Given the description of an element on the screen output the (x, y) to click on. 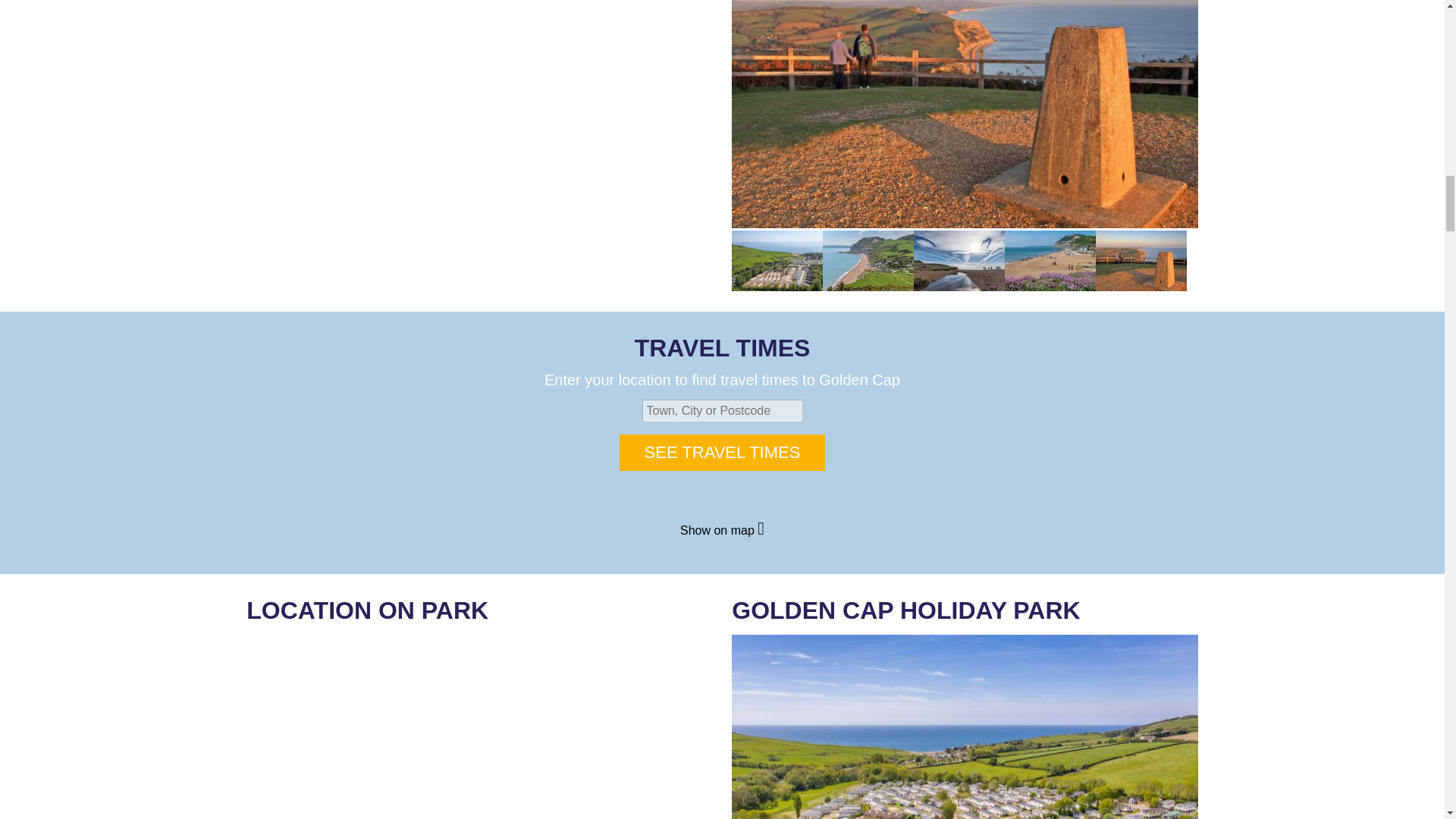
See Travel Times (722, 452)
